Given the description of an element on the screen output the (x, y) to click on. 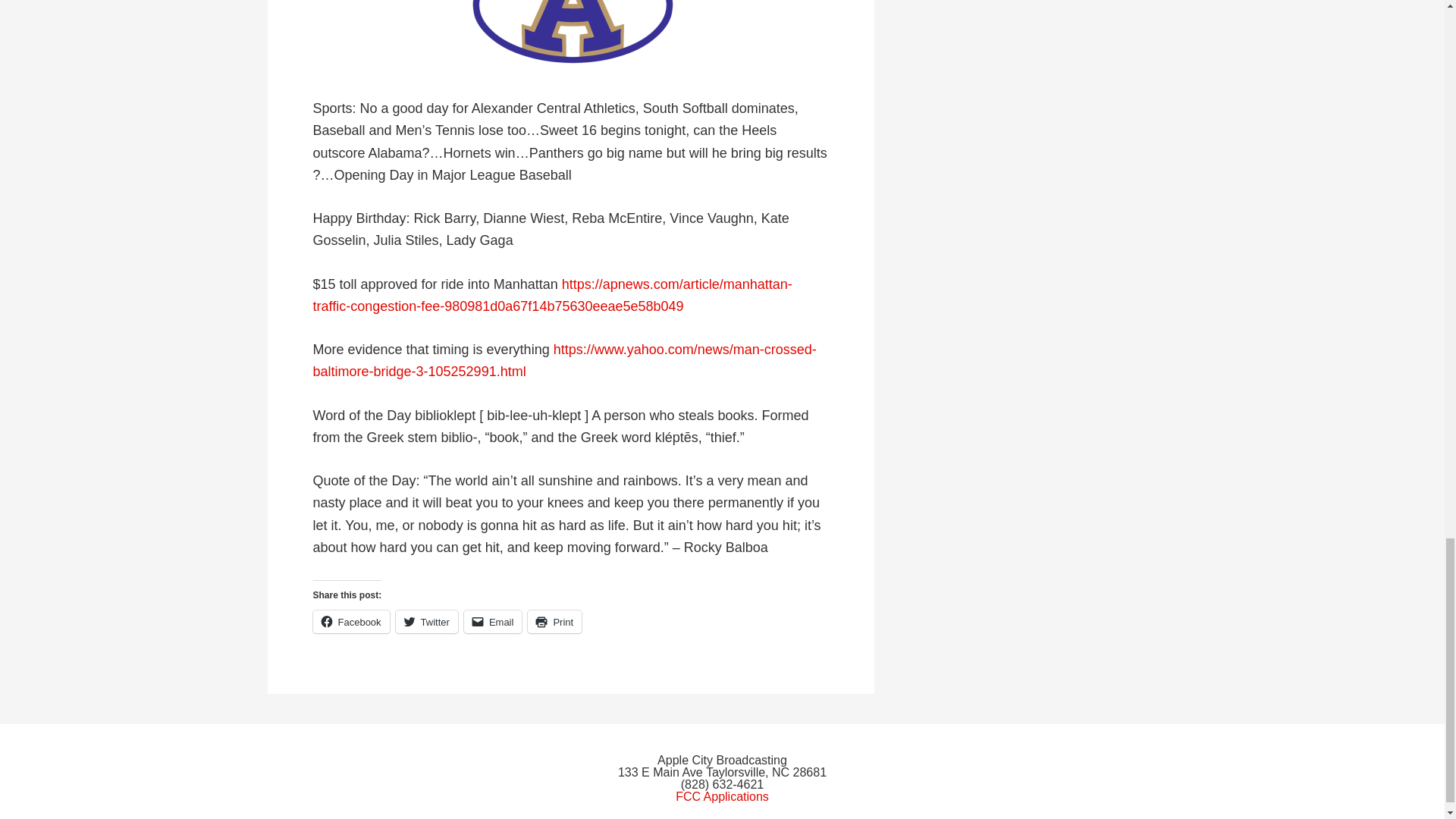
Twitter (427, 621)
Facebook (350, 621)
Click to email a link to a friend (493, 621)
Email (493, 621)
Click to share on Twitter (427, 621)
Click to print (553, 621)
FCC Applications (721, 796)
Click to share on Facebook (350, 621)
Print (553, 621)
